Given the description of an element on the screen output the (x, y) to click on. 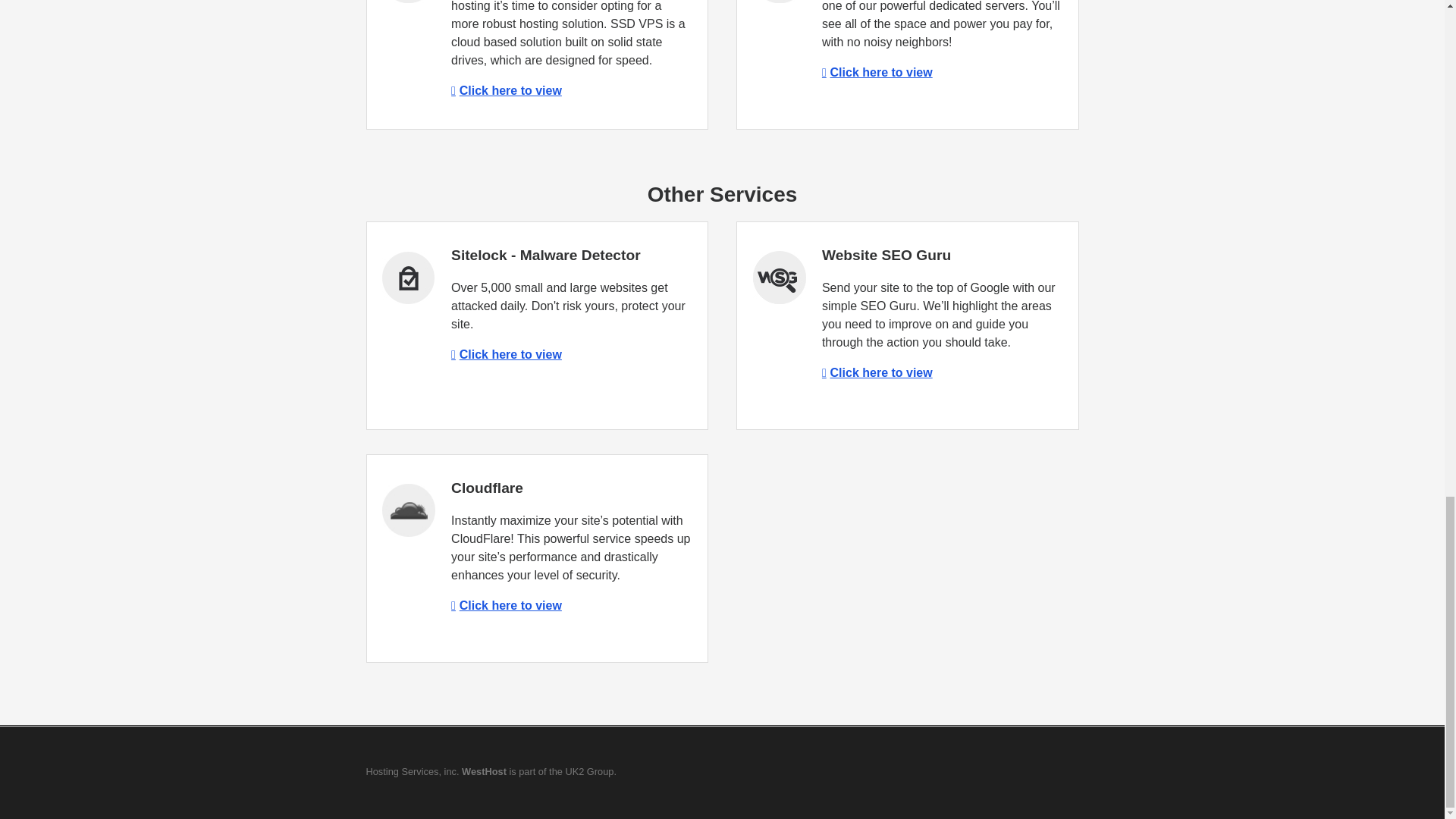
WestHost (483, 771)
Click here to view (506, 604)
Click here to view (877, 72)
Click here to view (506, 354)
Click here to view (506, 90)
Click here to view (877, 372)
